Given the description of an element on the screen output the (x, y) to click on. 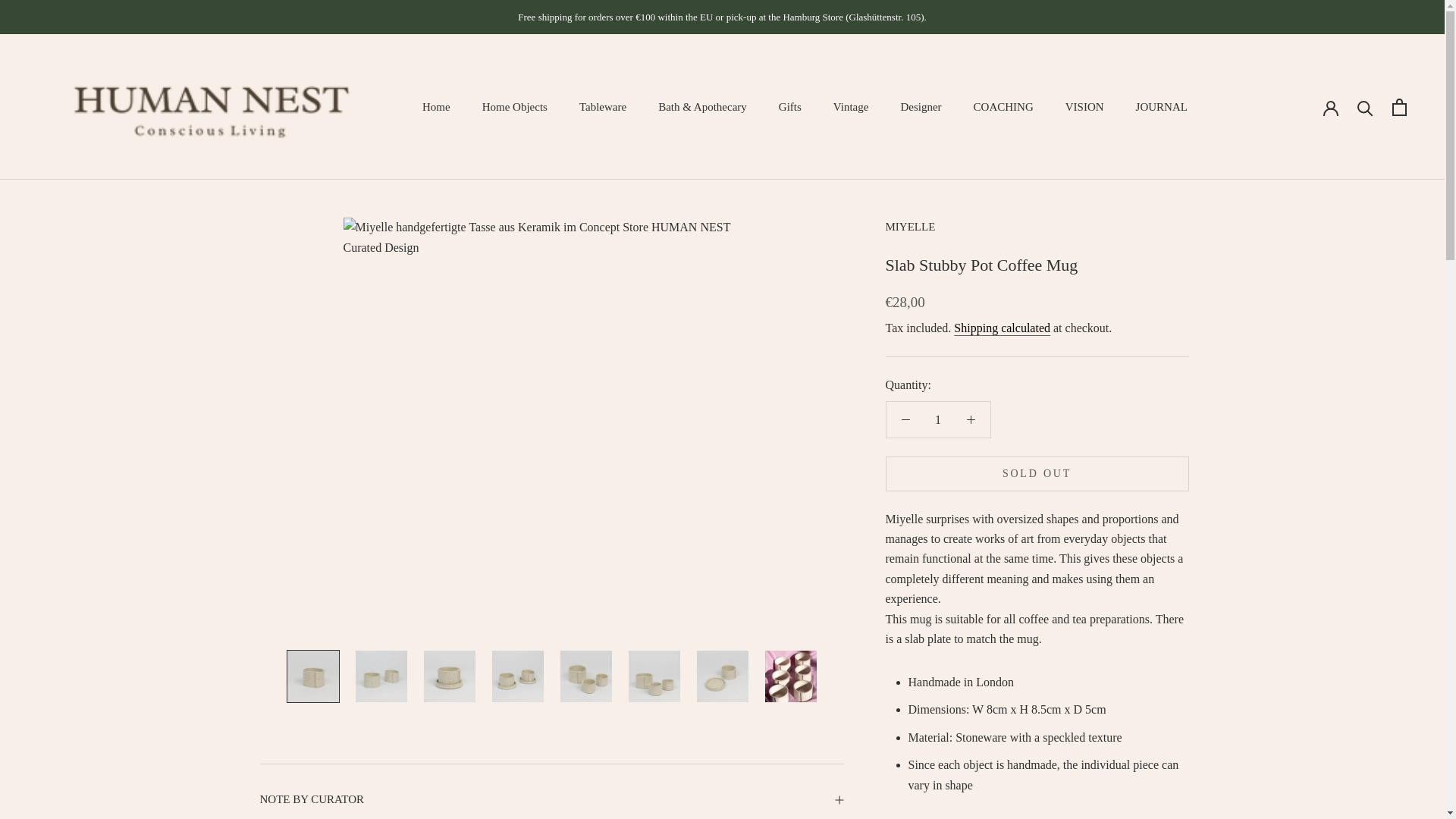
1 (938, 418)
